Given the description of an element on the screen output the (x, y) to click on. 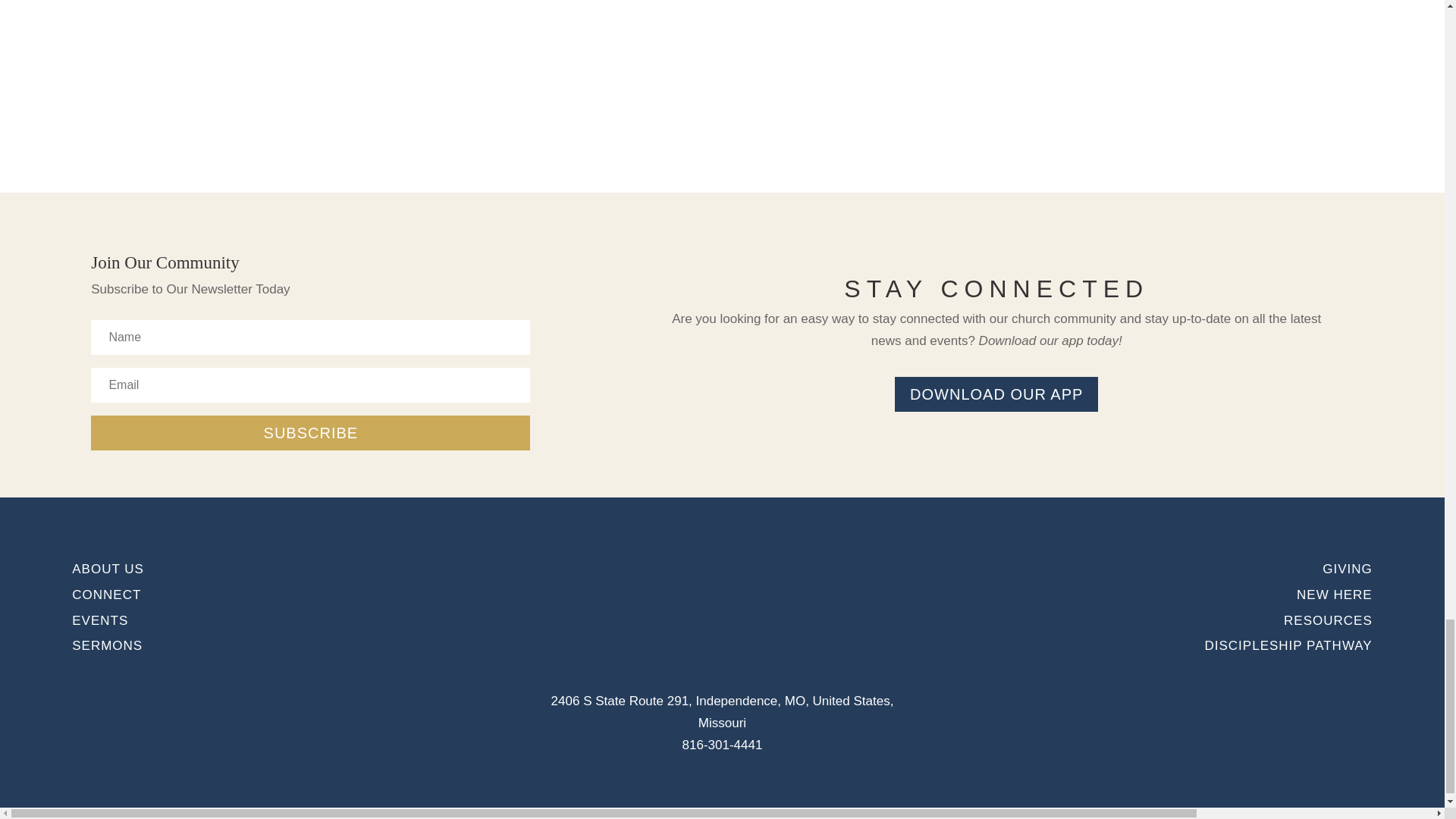
SUBSCRIBE (309, 432)
DOWNLOAD OUR APP (996, 393)
